Given the description of an element on the screen output the (x, y) to click on. 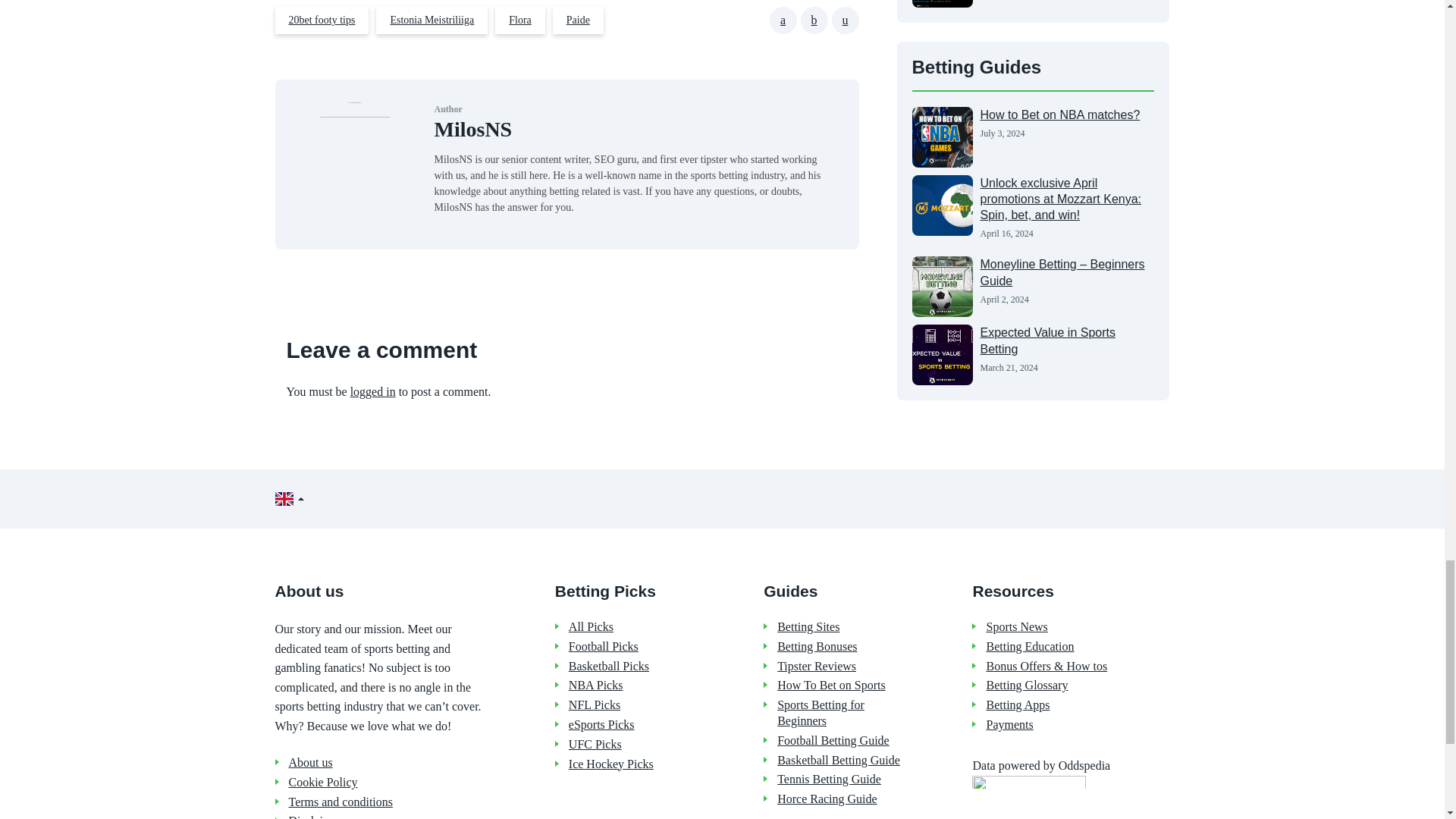
Share by email (845, 20)
Share on Facebook (782, 20)
Share on Twitter (814, 20)
